Given the description of an element on the screen output the (x, y) to click on. 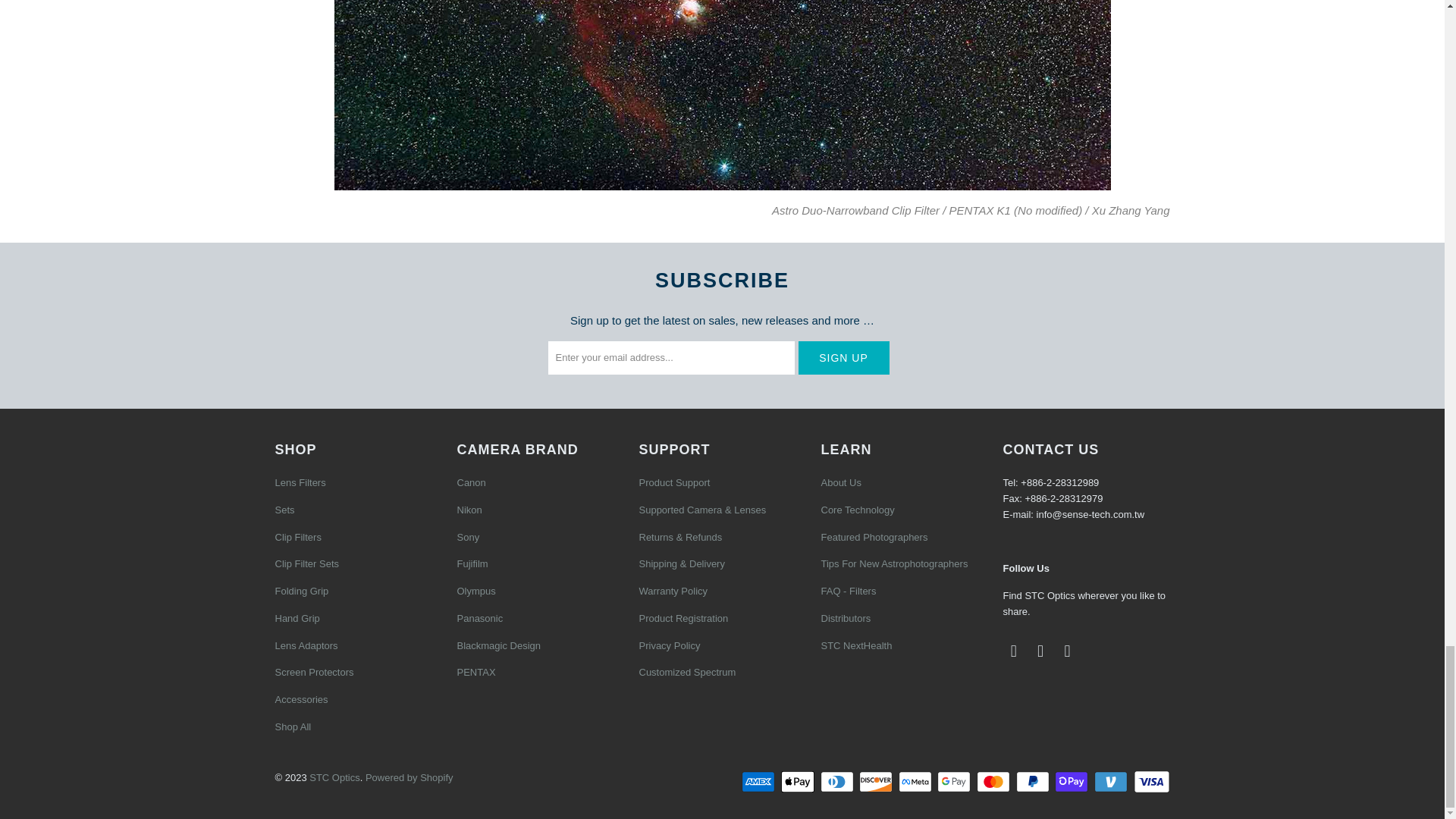
Shop Pay (1072, 781)
Meta Pay (916, 781)
PayPal (1034, 781)
Sign Up (842, 357)
Mastercard (994, 781)
STC Optics on Instagram (1067, 651)
Venmo (1112, 781)
Discover (877, 781)
American Express (759, 781)
Apple Pay (798, 781)
Visa (1150, 781)
STC Optics on Facebook (1014, 651)
Google Pay (955, 781)
STC Optics on YouTube (1040, 651)
Diners Club (839, 781)
